Given the description of an element on the screen output the (x, y) to click on. 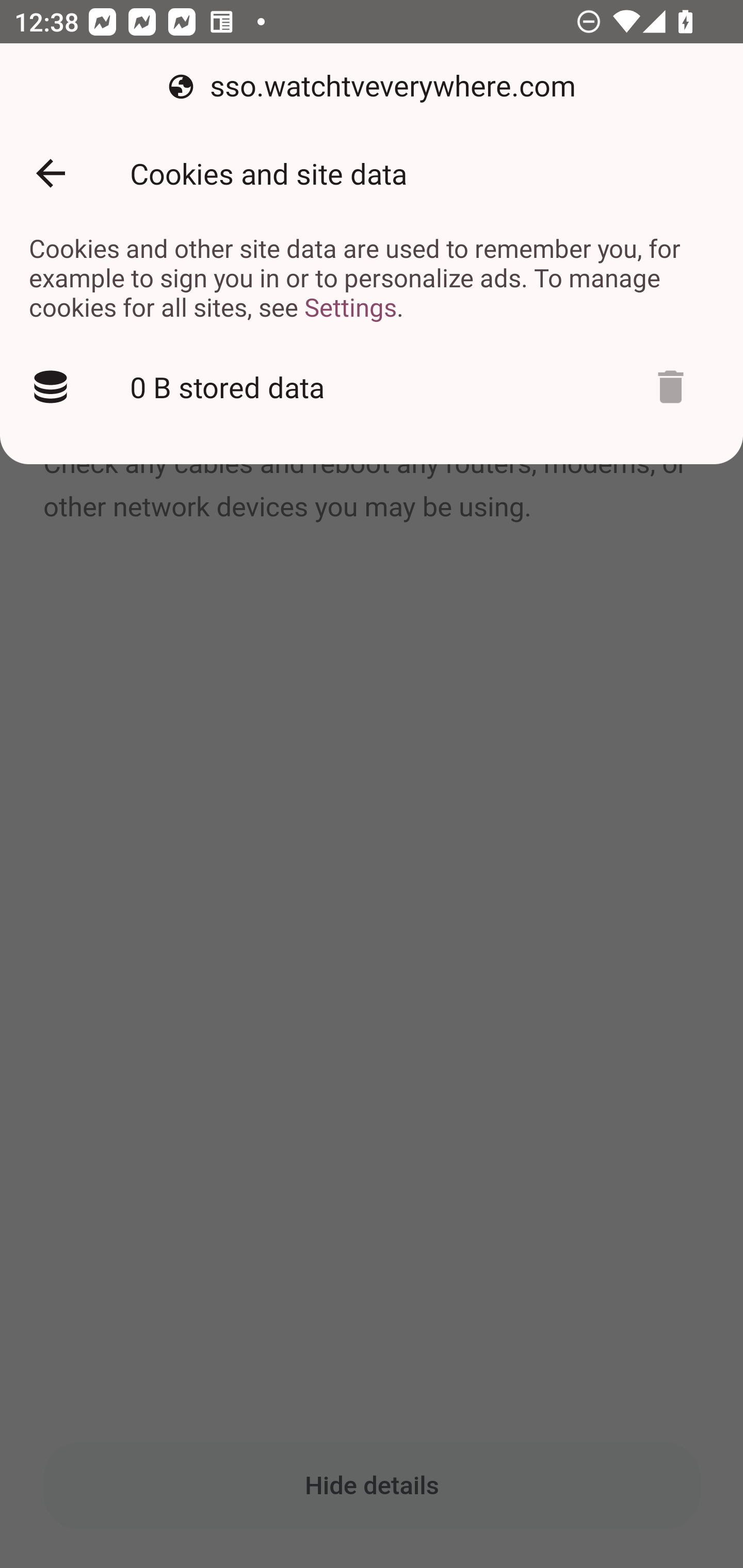
sso.watchtveverywhere.com (371, 86)
Back (50, 173)
0 B stored data Delete cookies? (371, 386)
